Given the description of an element on the screen output the (x, y) to click on. 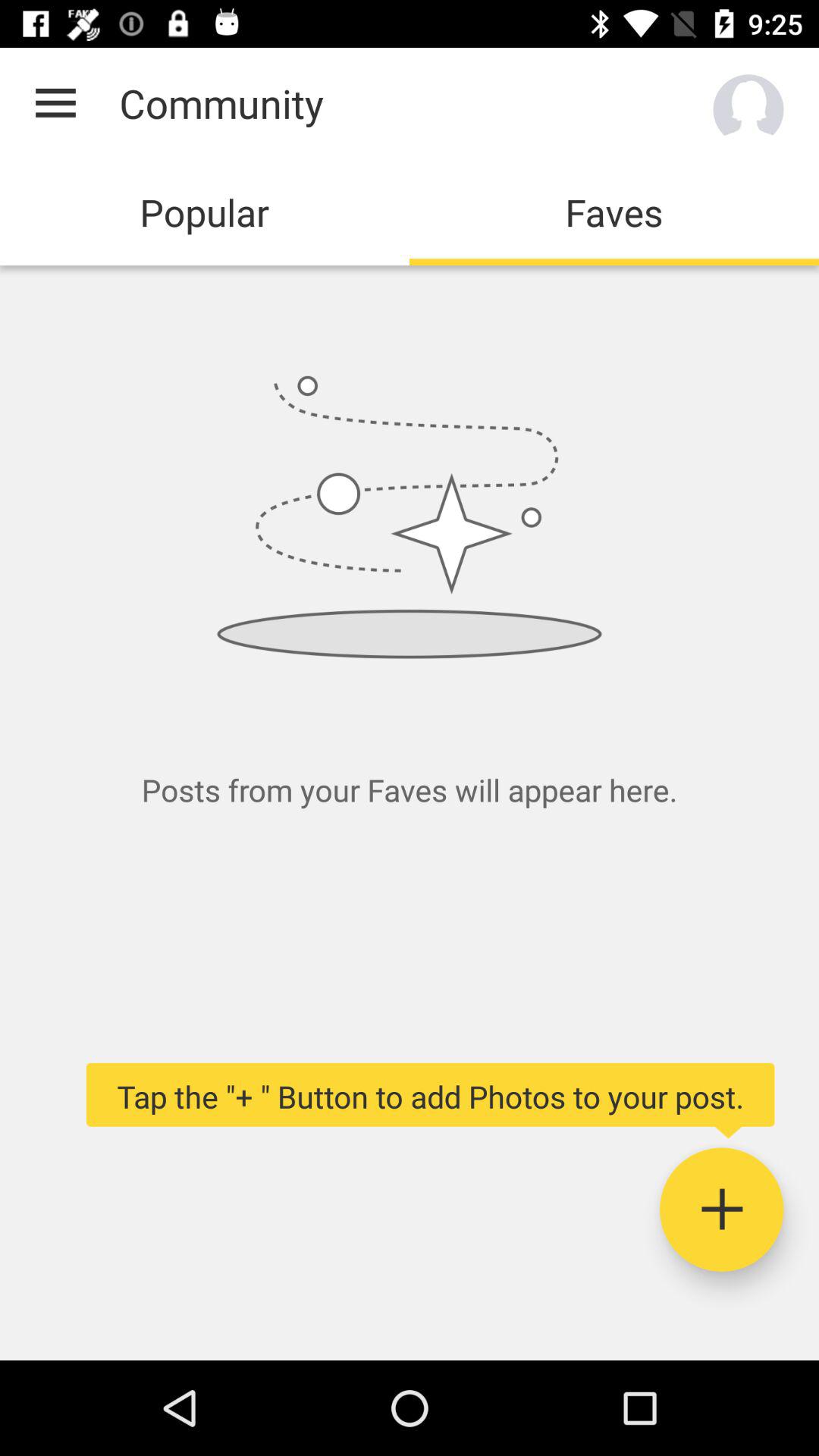
turn off icon at the bottom right corner (721, 1209)
